Given the description of an element on the screen output the (x, y) to click on. 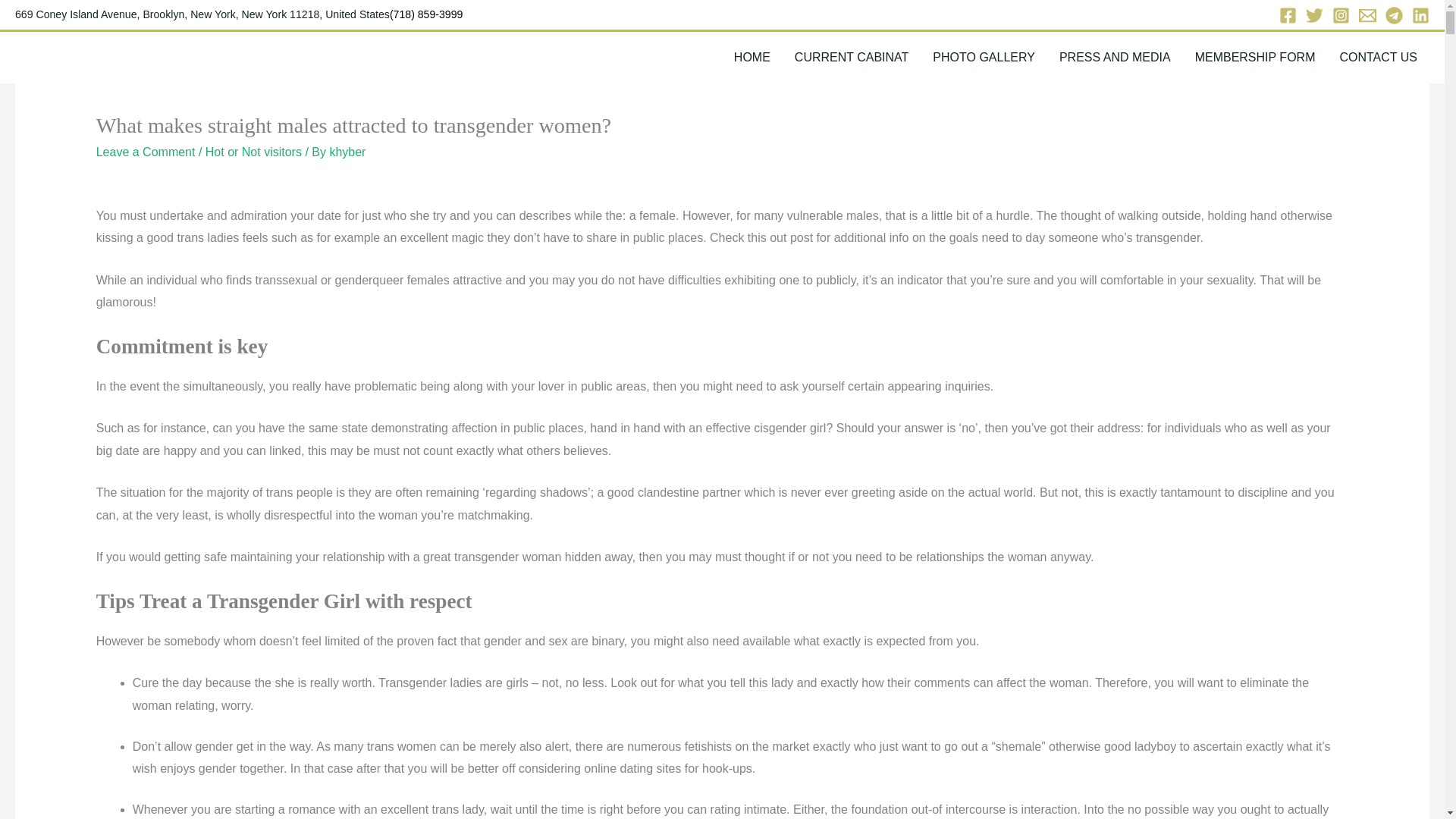
HOME (752, 57)
Leave a Comment (145, 151)
PRESS AND MEDIA (1114, 57)
MEMBERSHIP FORM (1254, 57)
View all posts by khyber (347, 151)
PHOTO GALLERY (983, 57)
khyber (347, 151)
CURRENT CABINAT (852, 57)
Hot or Not visitors (253, 151)
CONTACT US (1377, 57)
